Given the description of an element on the screen output the (x, y) to click on. 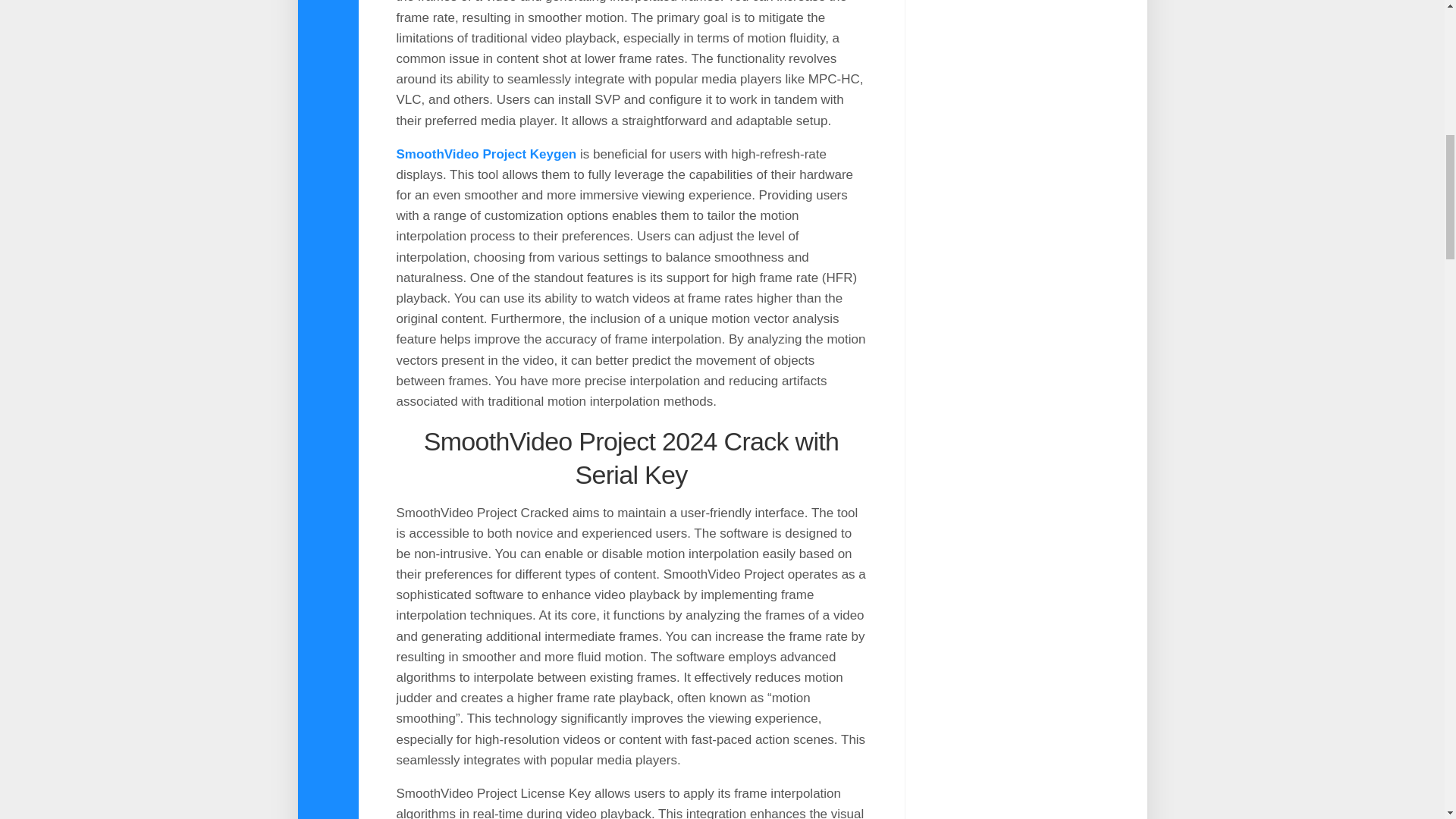
SmoothVideo Project Keygen (486, 154)
